Given the description of an element on the screen output the (x, y) to click on. 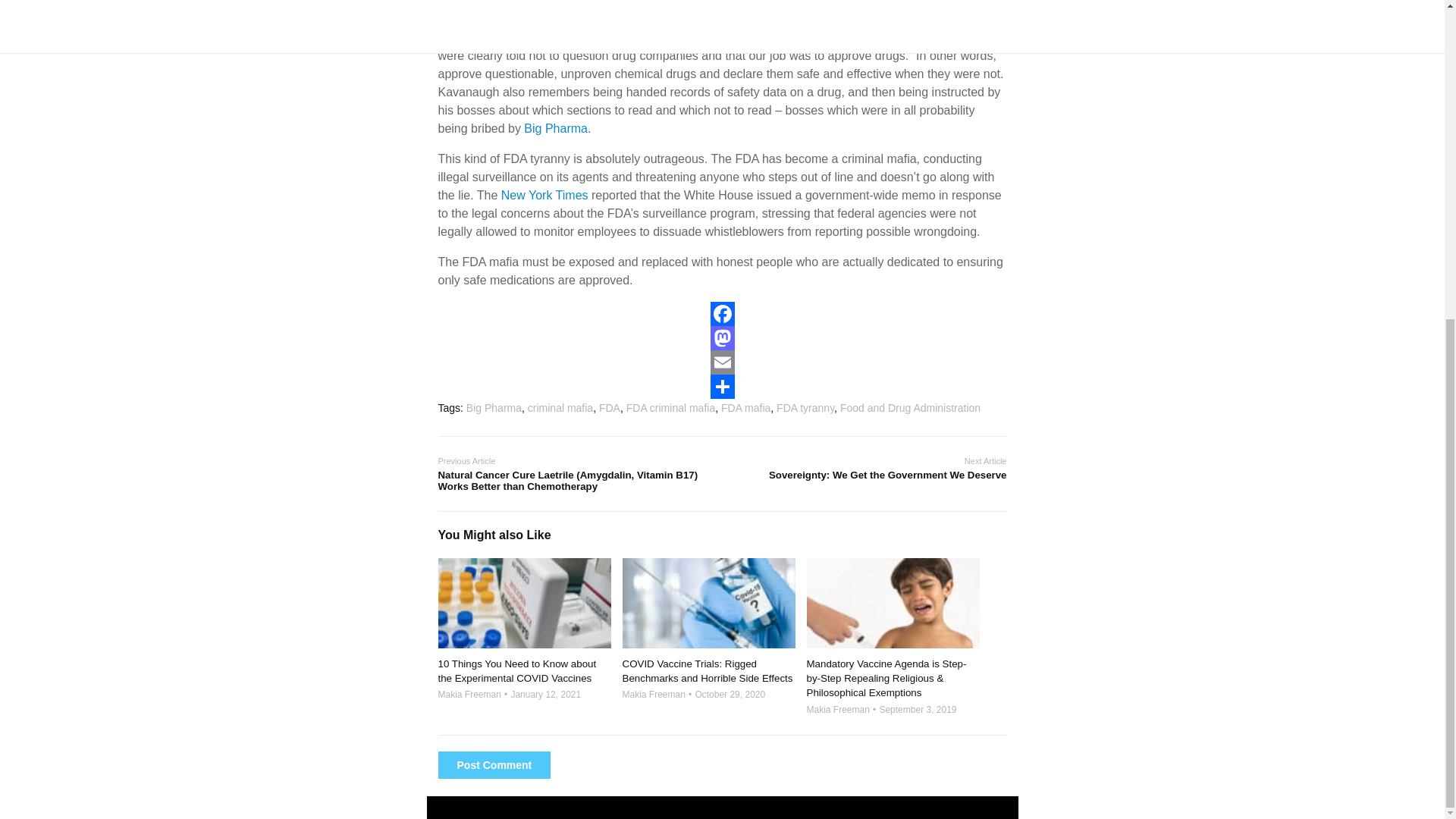
Email (722, 362)
FDA (609, 408)
Facebook (722, 313)
Makia Freeman (837, 709)
Big Pharma (556, 128)
FDA criminal mafia (670, 408)
Big Pharma (716, 3)
Big Pharma (836, 19)
Sovereignty: We Get the Government We Deserve (864, 475)
